Given the description of an element on the screen output the (x, y) to click on. 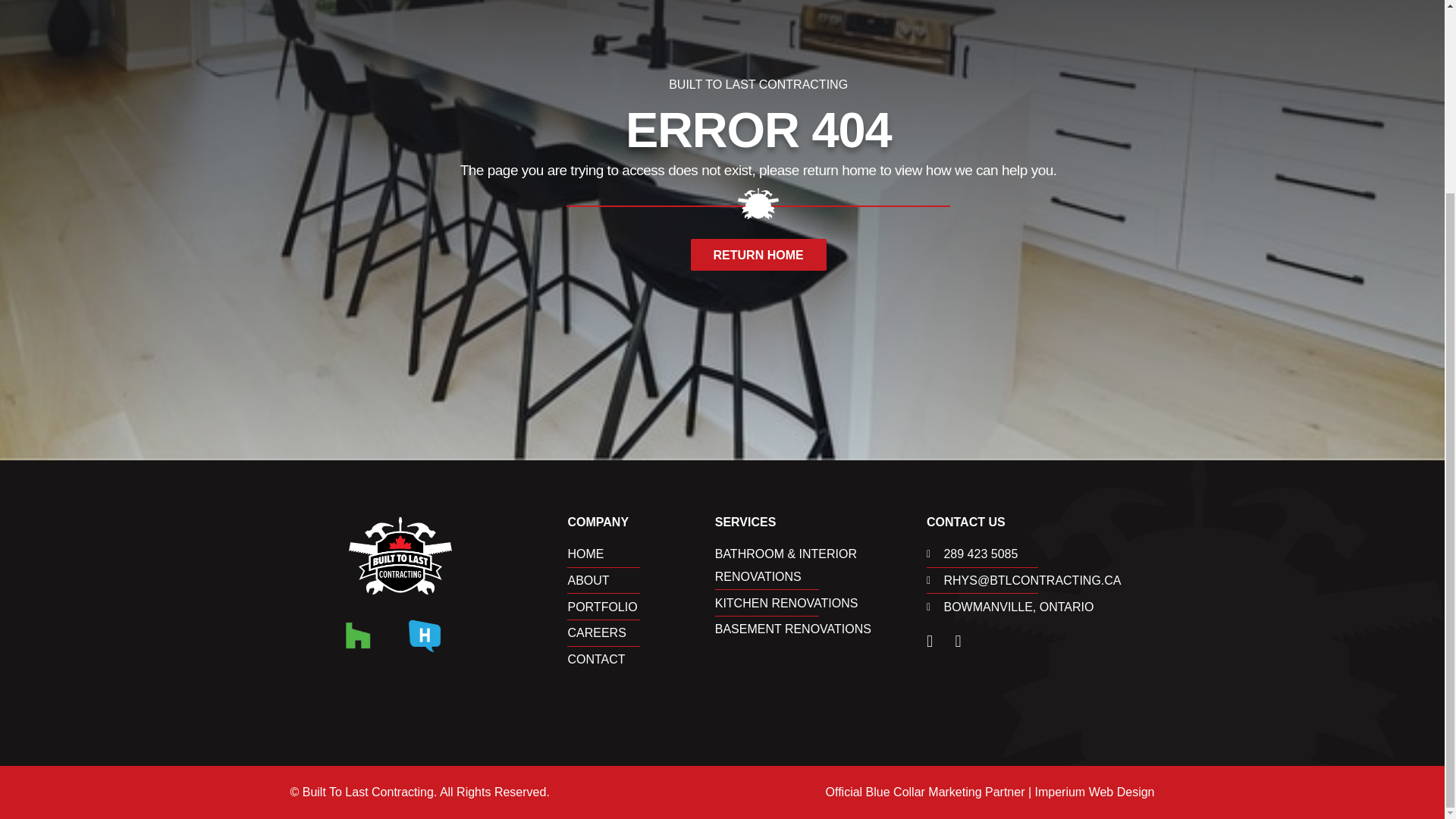
HOME (640, 553)
BASEMENT RENOVATIONS (820, 629)
Official Blue Collar Marketing Partner (925, 791)
CAREERS (640, 632)
BOWMANVILLE, ONTARIO (1040, 607)
ABOUT (640, 580)
PORTFOLIO (640, 607)
RETURN HOME (758, 255)
289 423 5085 (1040, 553)
CONTACT (640, 659)
